Given the description of an element on the screen output the (x, y) to click on. 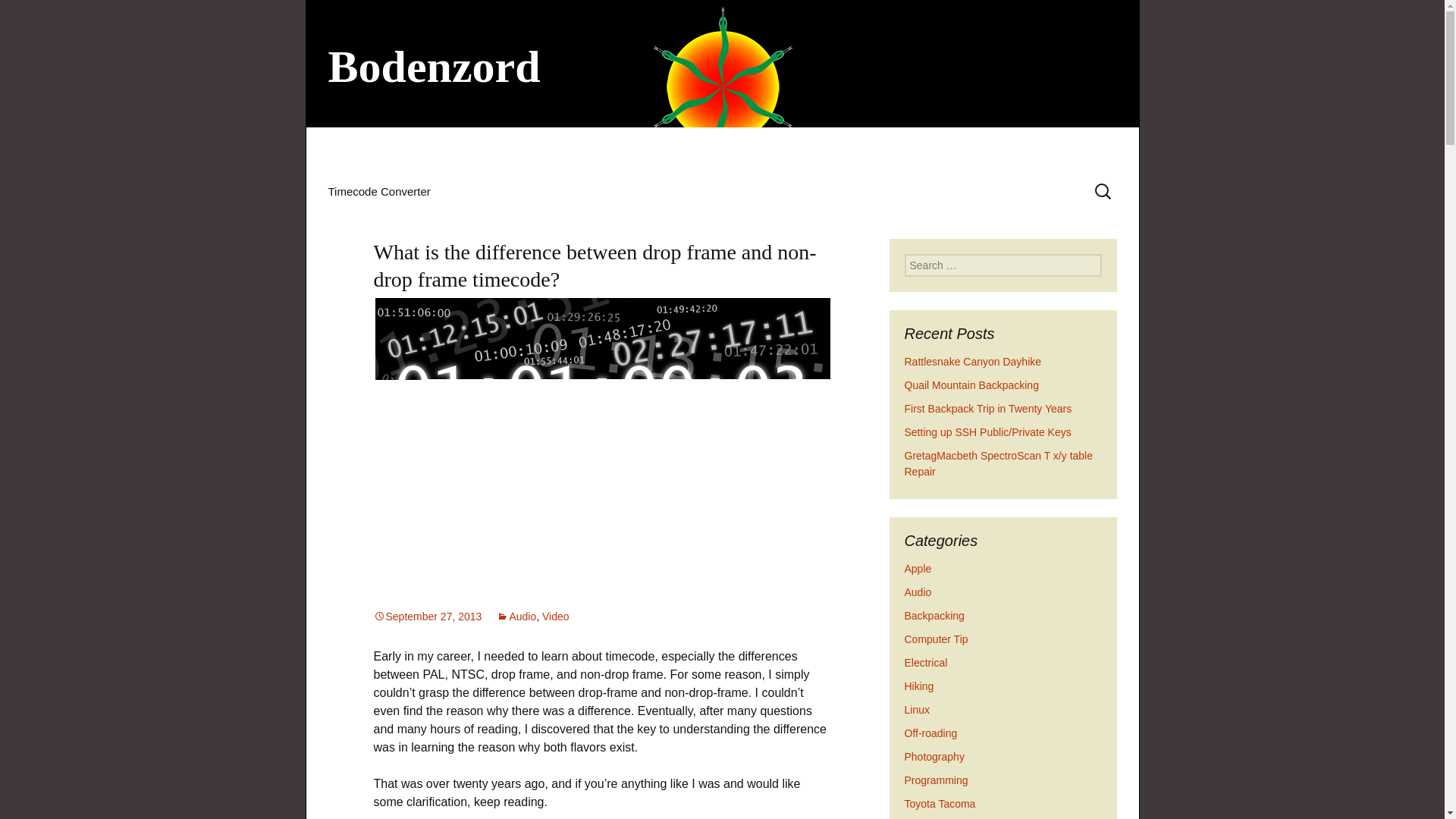
Electrical (925, 662)
September 27, 2013 (426, 616)
Hiking (918, 686)
Search (18, 15)
Linux (916, 709)
Programming (936, 779)
Photography (933, 756)
Search (34, 15)
Rattlesnake Canyon Dayhike (972, 361)
Quail Mountain Backpacking (971, 385)
